Given the description of an element on the screen output the (x, y) to click on. 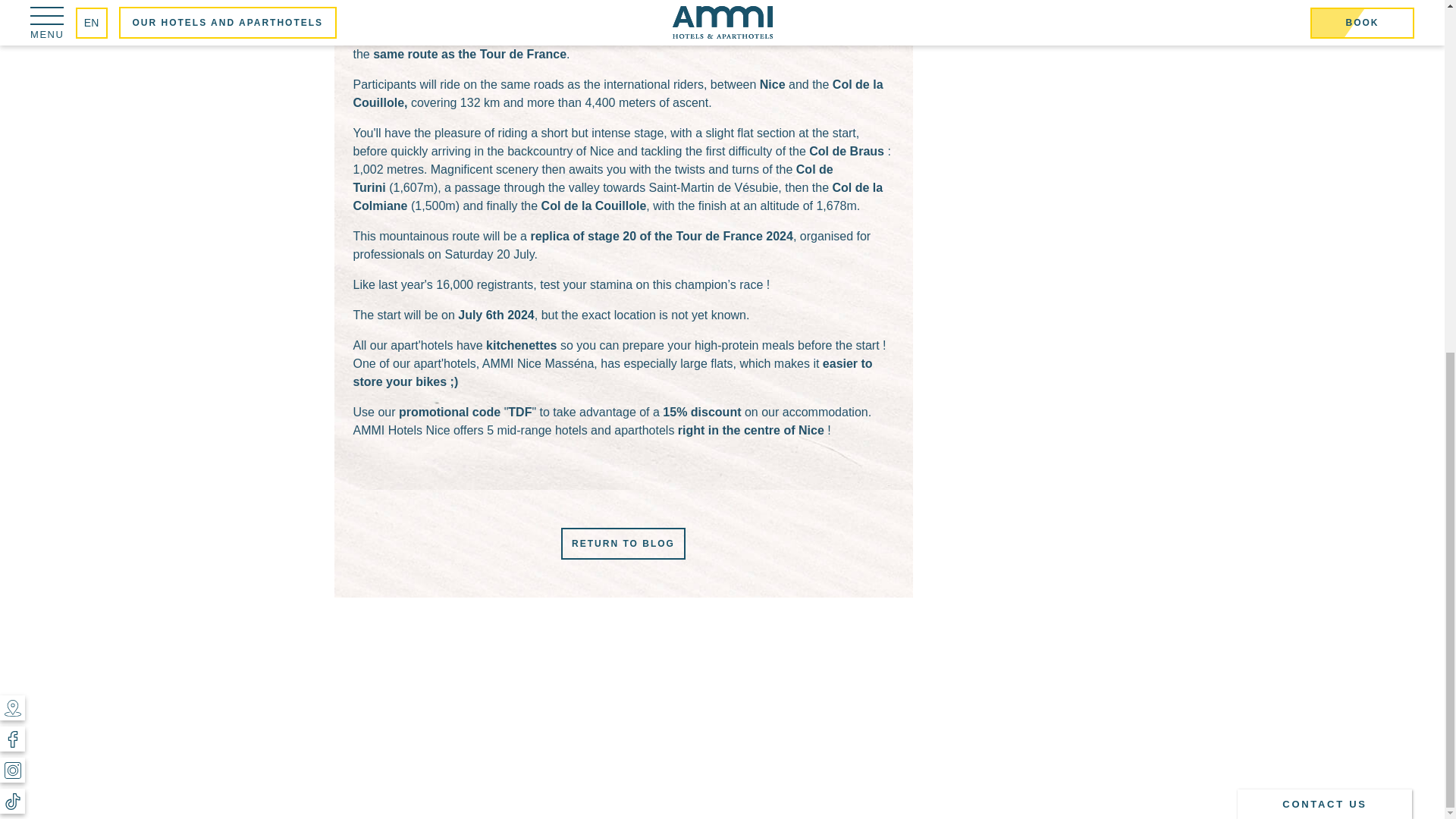
RETURN TO BLOG (622, 543)
